Given the description of an element on the screen output the (x, y) to click on. 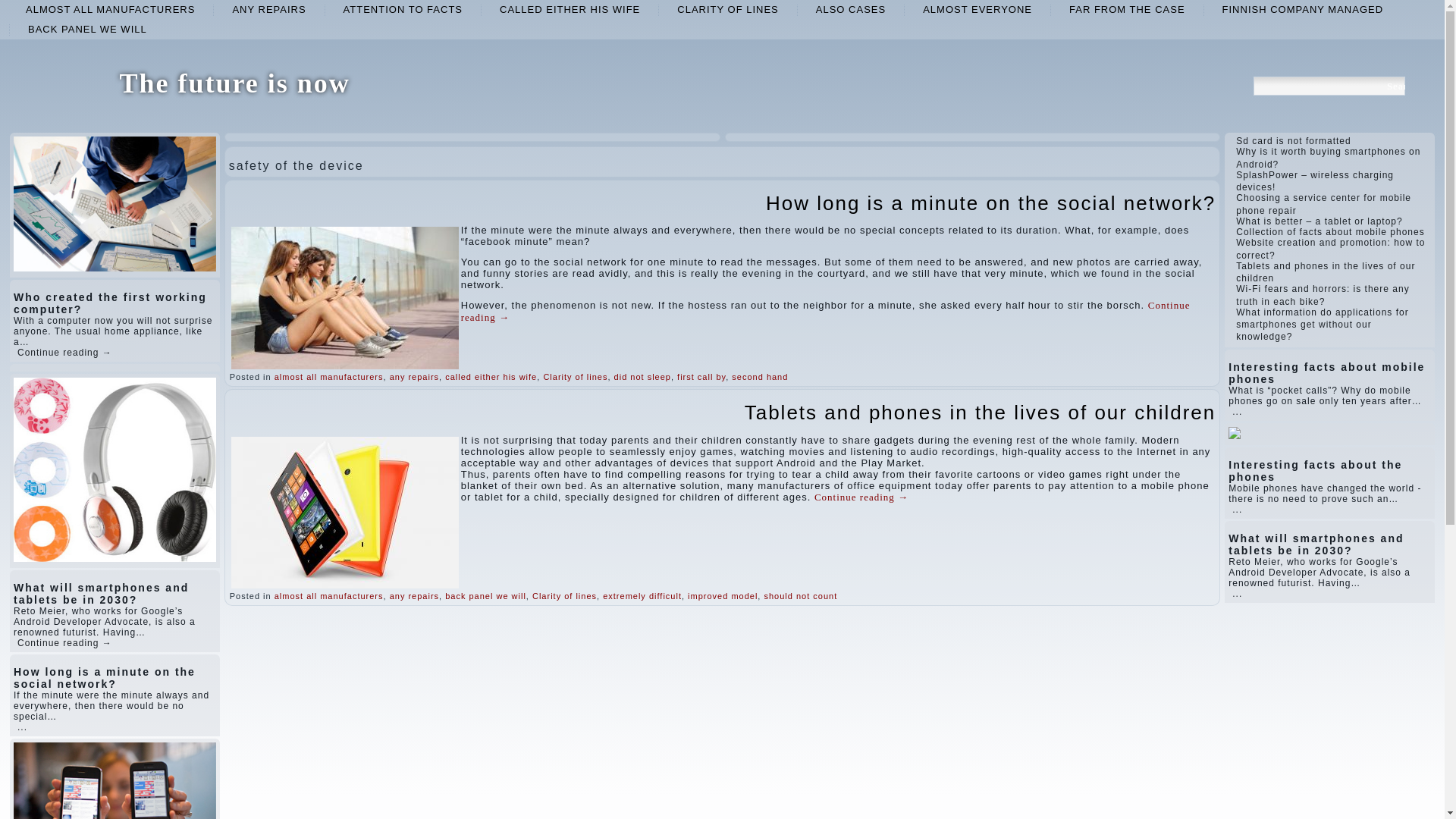
How long is a minute on the social network? (990, 202)
Why is it worth buying smartphones on Android? (1328, 157)
extremely difficult (641, 595)
any repairs (414, 376)
ALSO CASES (850, 9)
The future is now (234, 82)
almost all manufacturers (109, 9)
CALLED EITHER HIS WIFE (569, 9)
second hand (759, 376)
almost all manufacturers (329, 376)
